Given the description of an element on the screen output the (x, y) to click on. 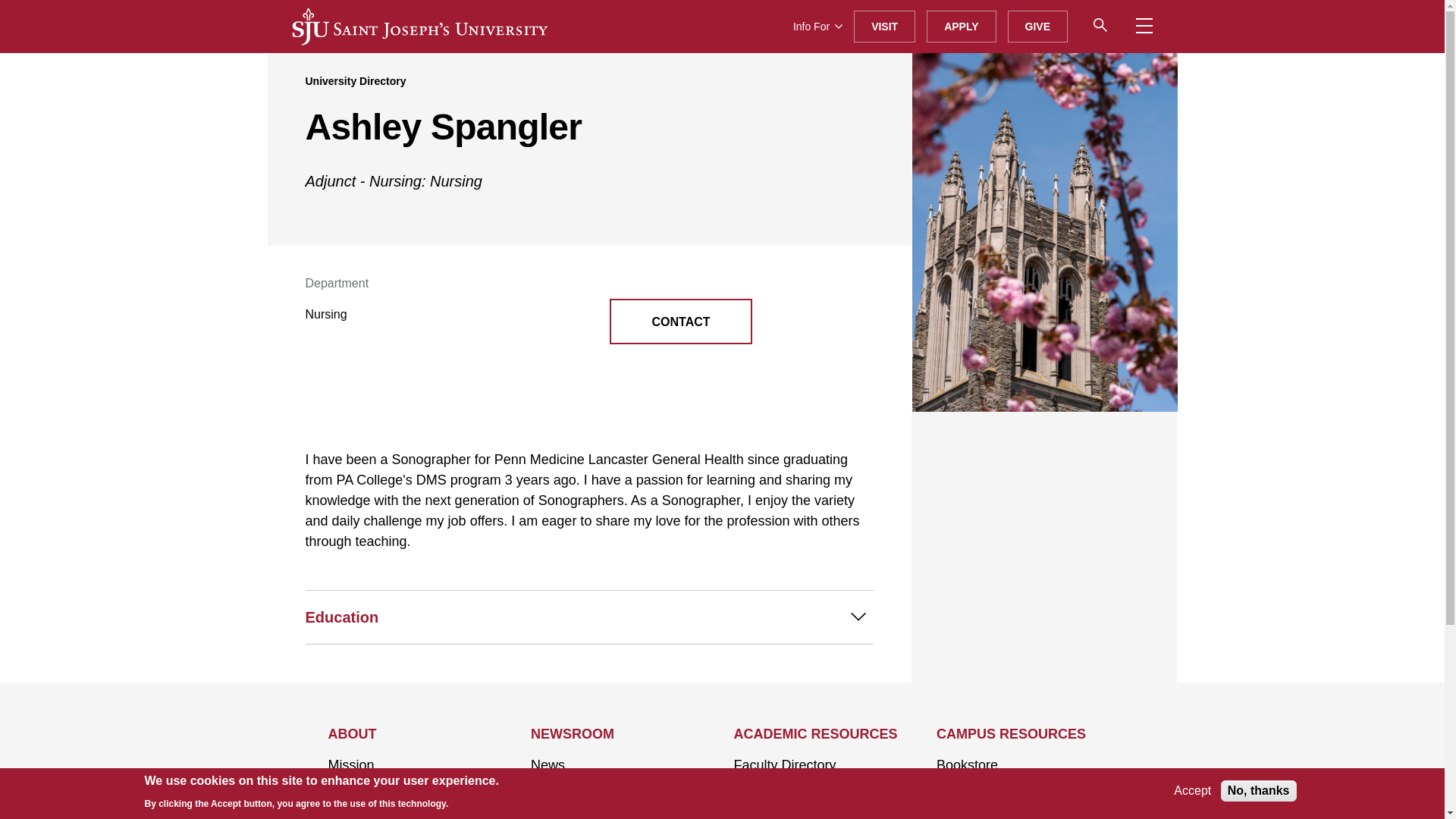
GIVE (1037, 26)
VISIT (884, 26)
Open Search (1105, 26)
APPLY (960, 26)
Info For (818, 26)
Open Search (1099, 24)
